Given the description of an element on the screen output the (x, y) to click on. 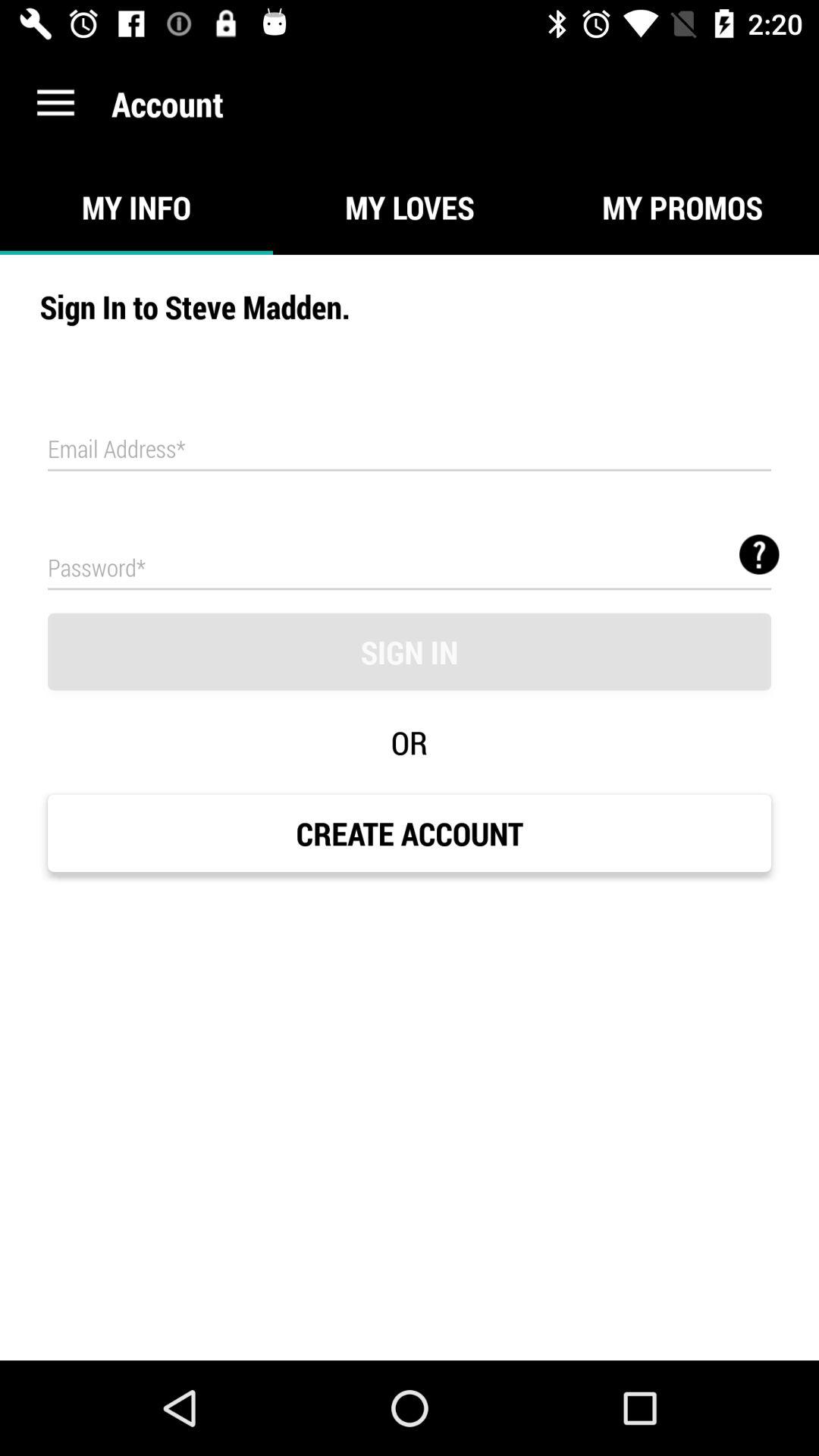
launch icon next to the account item (55, 103)
